Given the description of an element on the screen output the (x, y) to click on. 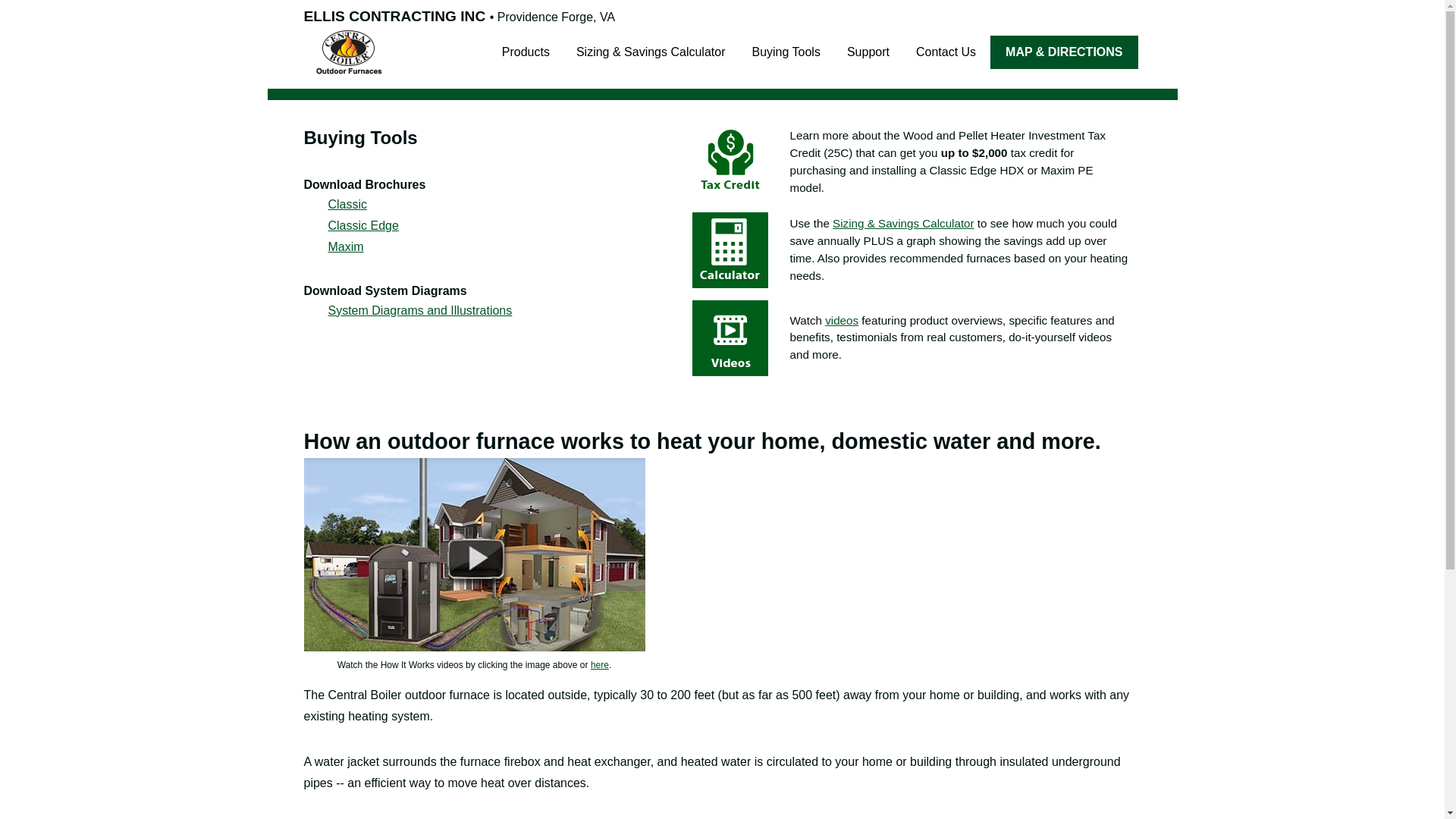
here (599, 665)
Contact Us (945, 51)
System Diagrams and Illustrations (419, 309)
Maxim (344, 246)
Buying Tools (785, 51)
Products (525, 51)
Classic (346, 204)
Support (868, 51)
Classic Edge (362, 225)
videos (842, 319)
